Given the description of an element on the screen output the (x, y) to click on. 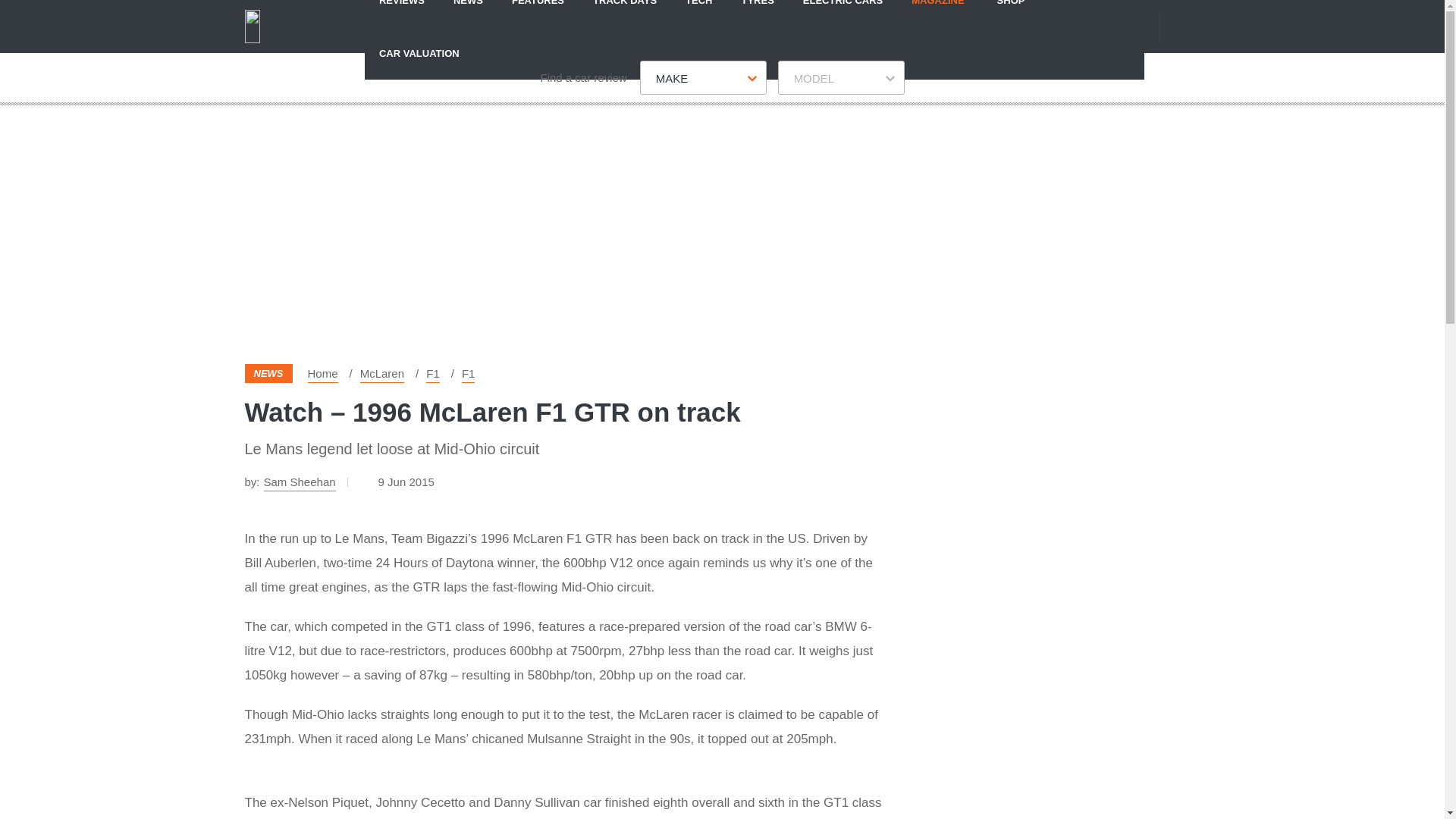
ELECTRIC CARS (842, 13)
FEATURES (537, 13)
REVIEWS (402, 13)
CAR VALUATION (419, 52)
TRACK DAYS (624, 13)
SHOP (1010, 13)
Search (1189, 26)
TYRES (756, 13)
MAGAZINE (937, 13)
TECH (698, 13)
NEWS (468, 13)
